Given the description of an element on the screen output the (x, y) to click on. 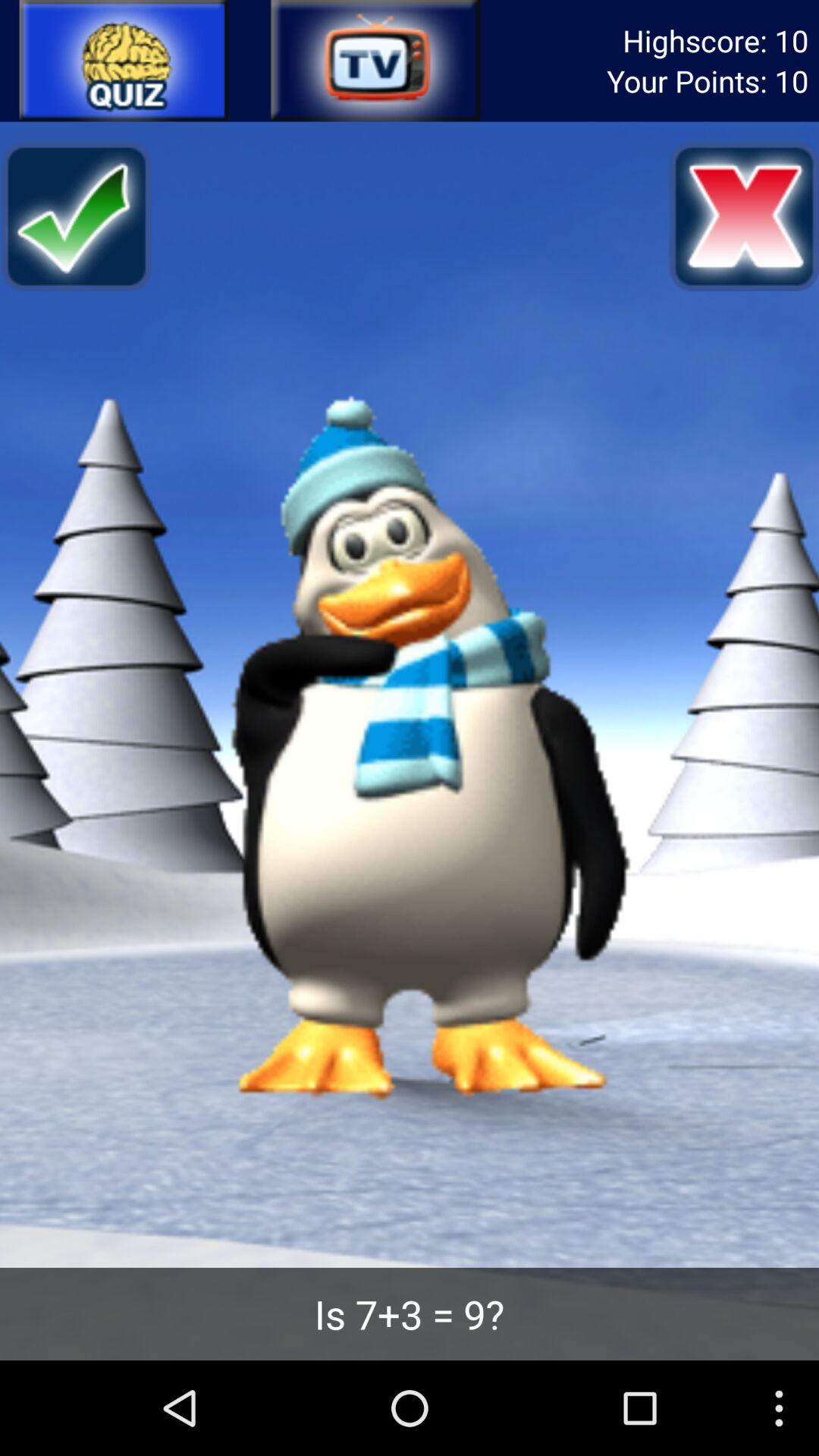
correcting option (75, 216)
